Given the description of an element on the screen output the (x, y) to click on. 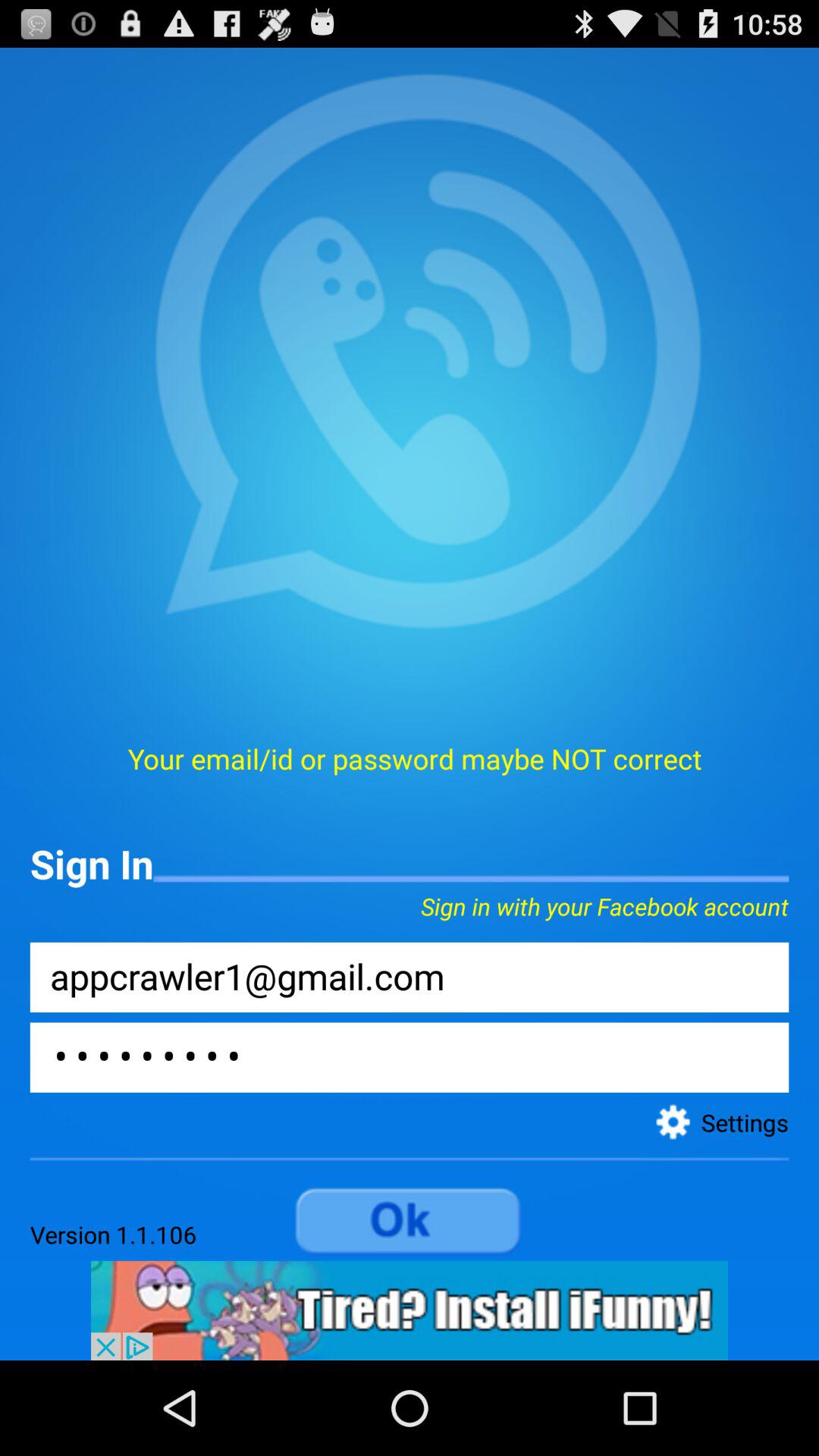
enter password (409, 1057)
